Given the description of an element on the screen output the (x, y) to click on. 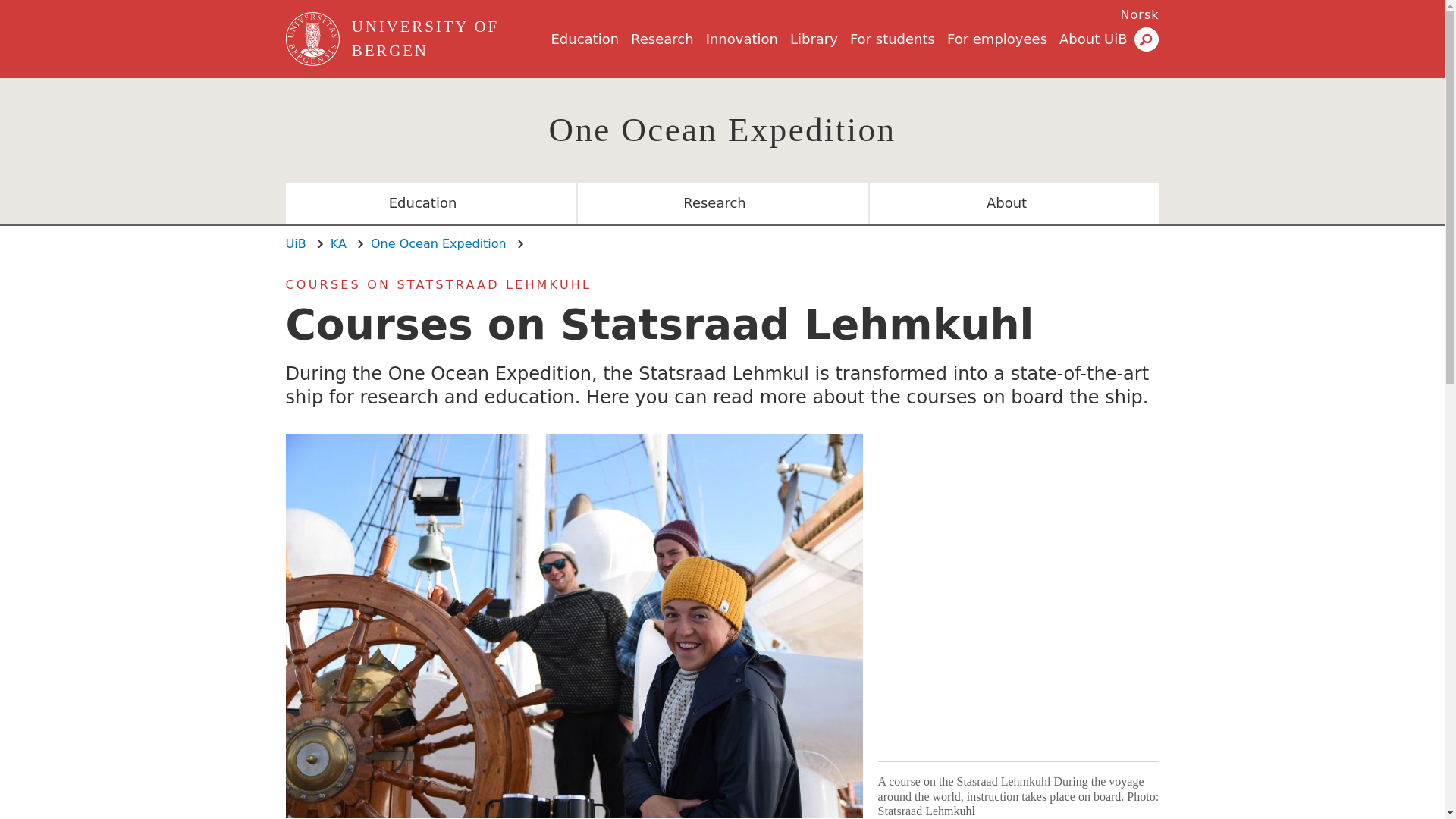
Home (448, 39)
Home (313, 39)
About (1013, 201)
Innovation (741, 38)
Research (662, 38)
Library (814, 38)
One Ocean Expedition (722, 129)
Education (430, 201)
One Ocean Expedition (438, 243)
Norsk (1139, 14)
Research (722, 201)
KA (338, 243)
For students (892, 38)
Education (584, 38)
